Given the description of an element on the screen output the (x, y) to click on. 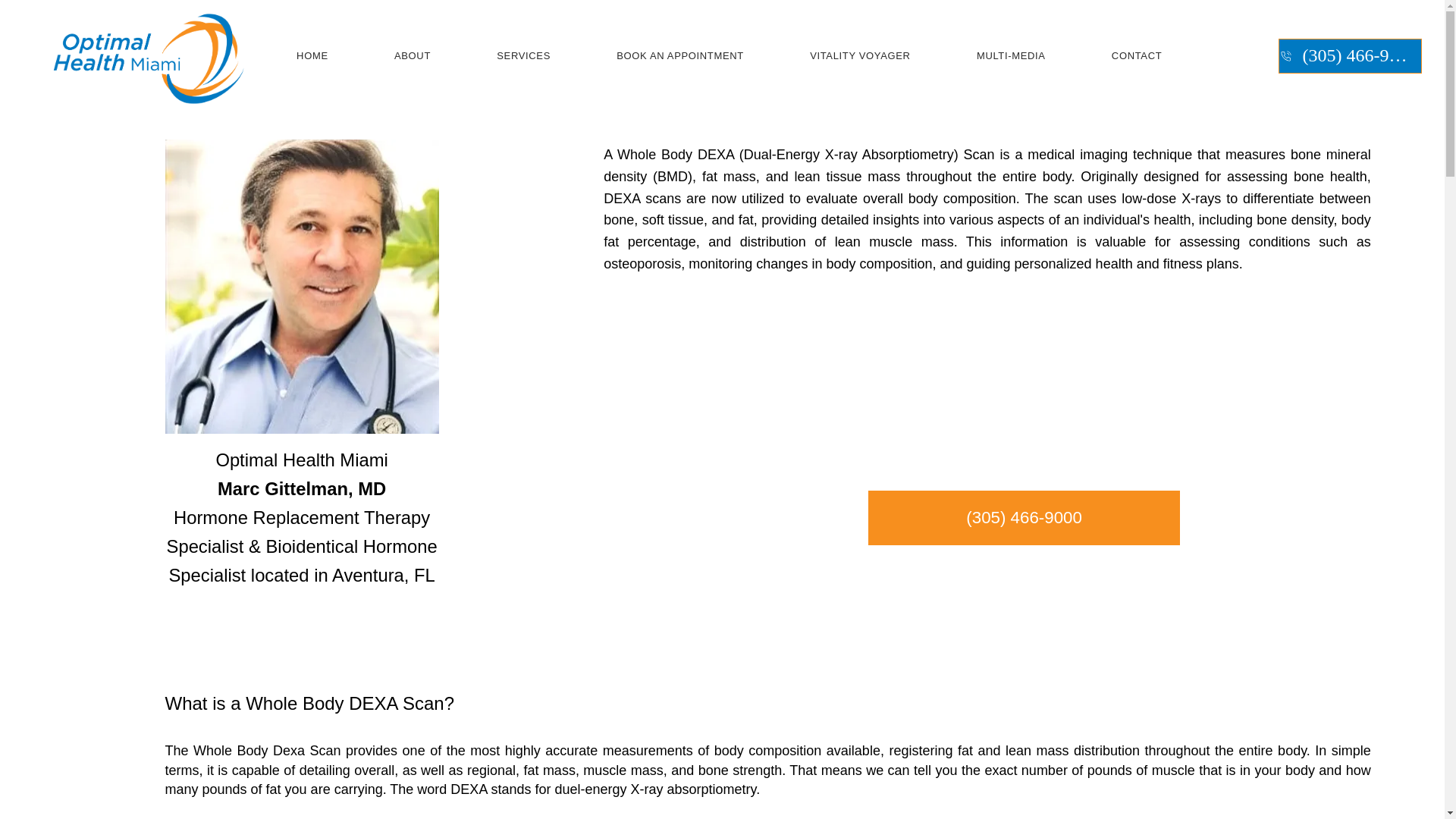
ABOUT (412, 55)
MULTI-MEDIA (1010, 55)
BOOK AN APPOINTMENT (680, 55)
VITALITY VOYAGER (860, 55)
HOME (312, 55)
SERVICES (523, 55)
CONTACT (1136, 55)
